Given the description of an element on the screen output the (x, y) to click on. 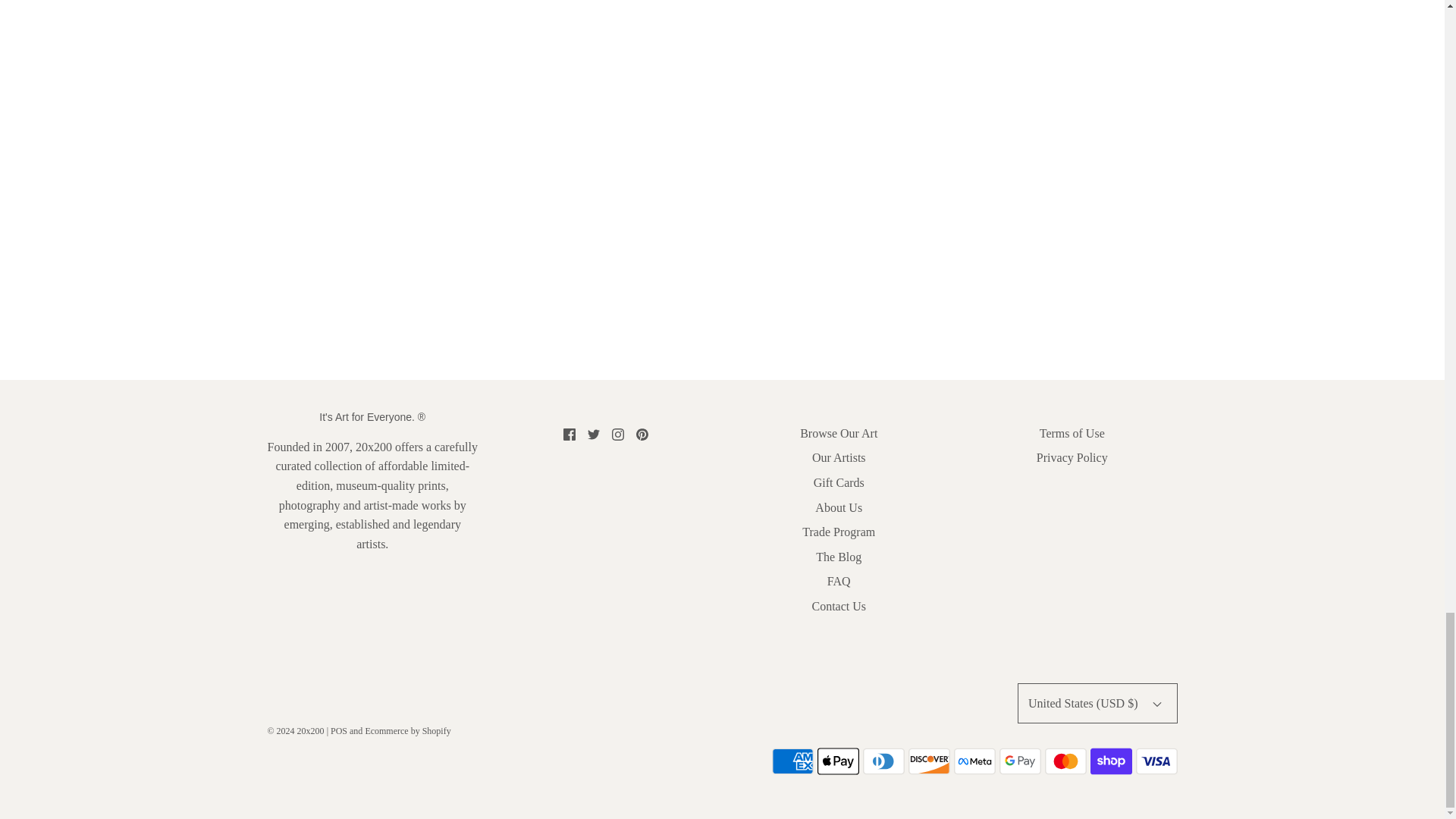
Google Pay (1019, 761)
Mastercard (1065, 761)
Shop Pay (1111, 761)
Apple Pay (837, 761)
Discover (929, 761)
American Express (792, 761)
Meta Pay (974, 761)
Pinterest icon (641, 434)
Twitter icon (593, 434)
Visa (1156, 761)
